Given the description of an element on the screen output the (x, y) to click on. 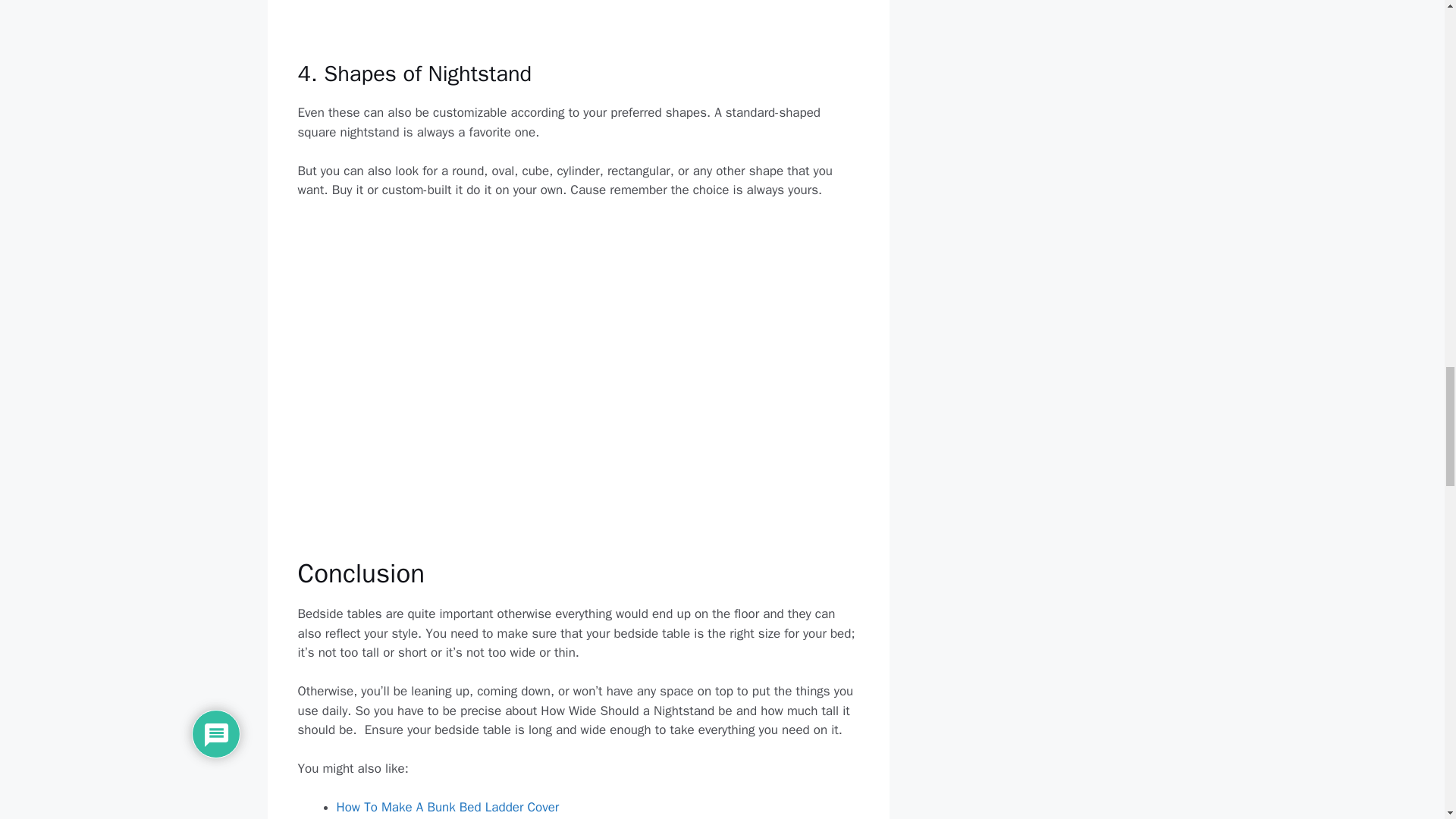
How To Make A Bunk Bed Ladder Cover (447, 806)
